Given the description of an element on the screen output the (x, y) to click on. 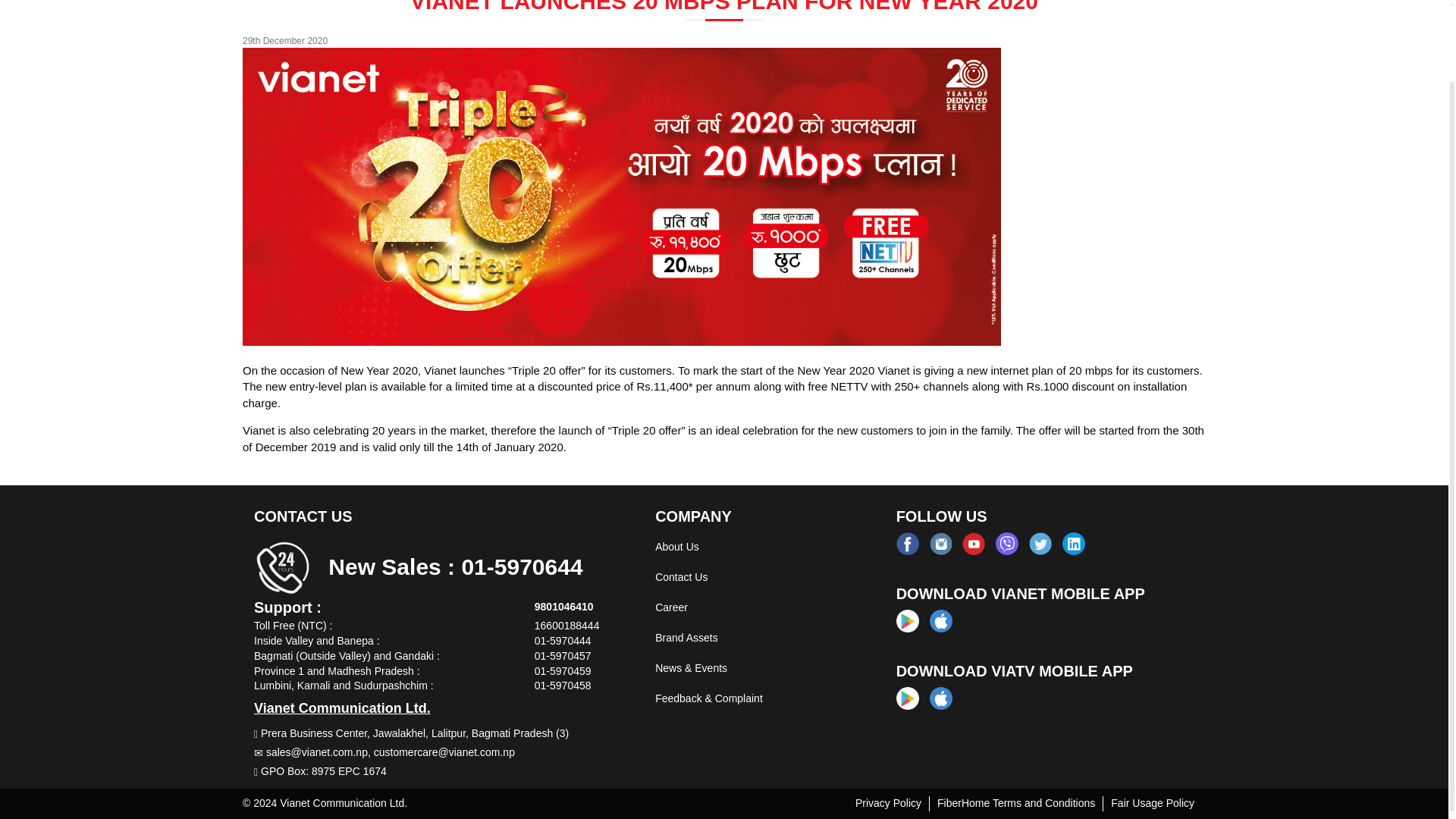
About Us (676, 546)
Contact Us (681, 576)
01-5970444 (562, 640)
01-5970644 (521, 566)
01-5970458 (562, 685)
01-5970459 (562, 670)
9801046410 (564, 606)
Brand Assets (686, 637)
01-5970457 (562, 655)
Career (671, 607)
